Given the description of an element on the screen output the (x, y) to click on. 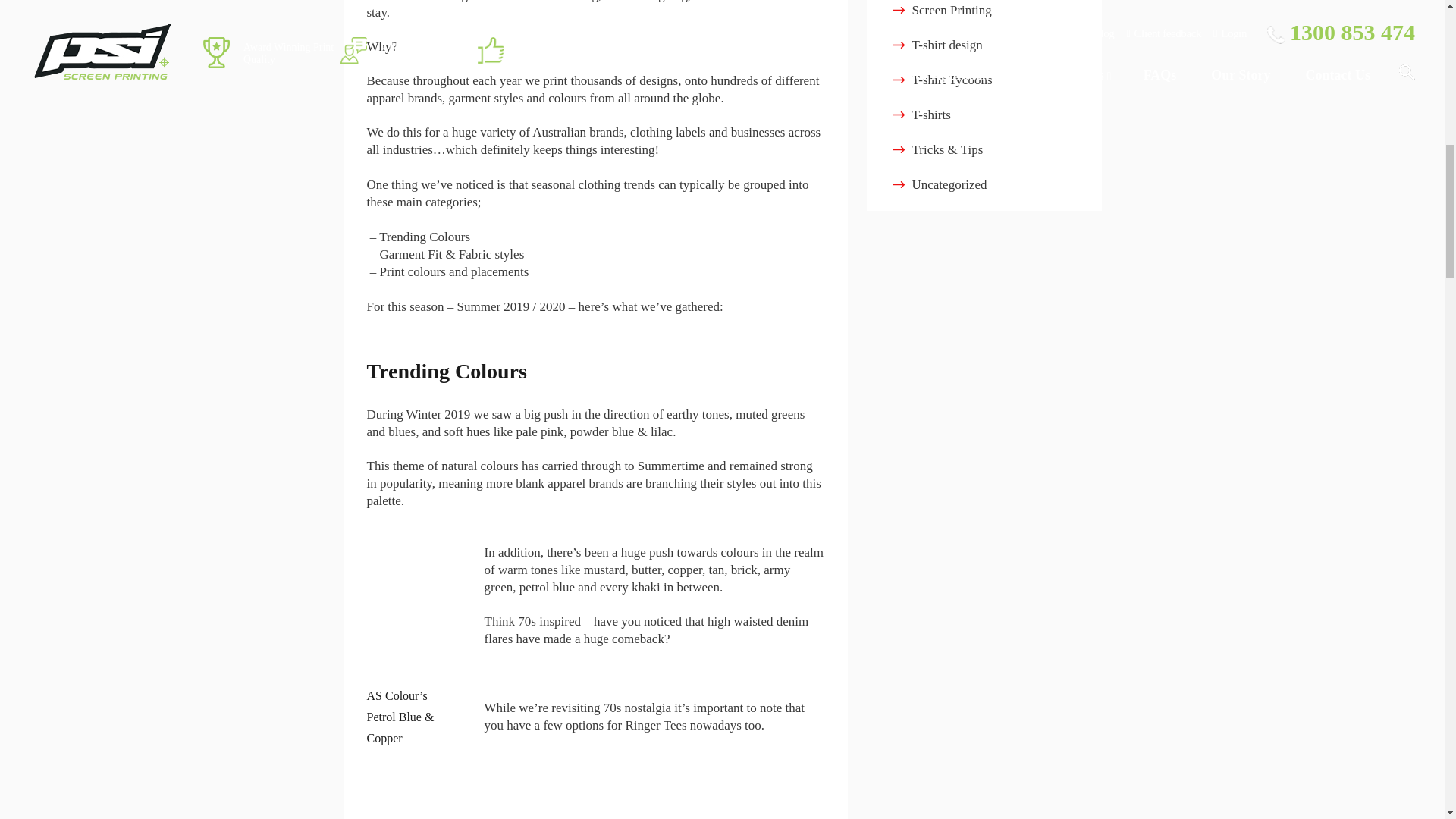
T-shirt Tycoons (951, 79)
T-shirts (930, 114)
Screen Printing (951, 10)
T-shirt design (946, 44)
